Given the description of an element on the screen output the (x, y) to click on. 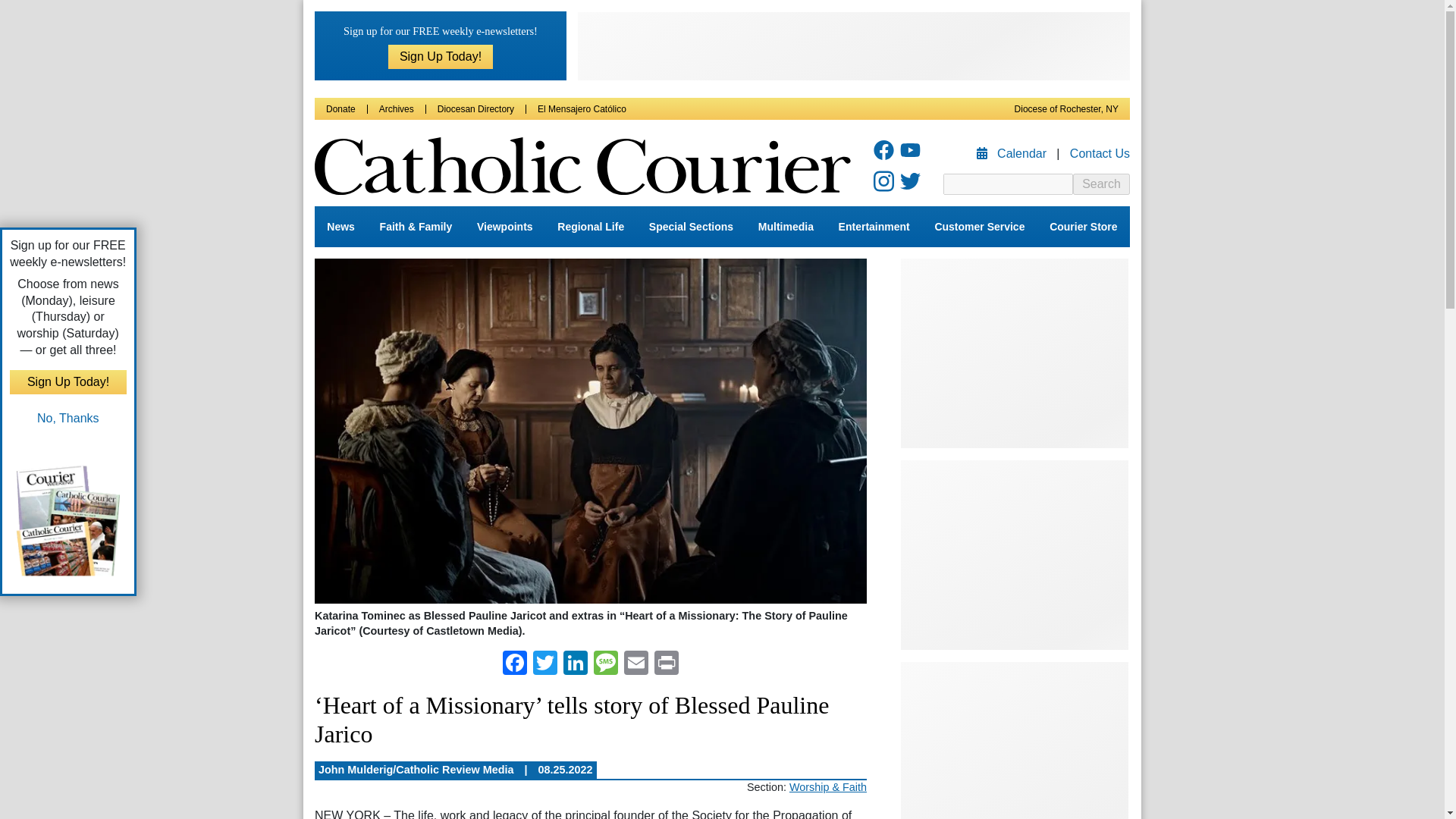
Special Sections (691, 226)
Diocese of Rochester, NY (1066, 108)
3rd party ad content (853, 46)
  Calendar (1012, 153)
Email (635, 664)
Facebook (514, 664)
Search (1101, 183)
News (340, 226)
Archives (395, 108)
Contact Us (1099, 153)
